Given the description of an element on the screen output the (x, y) to click on. 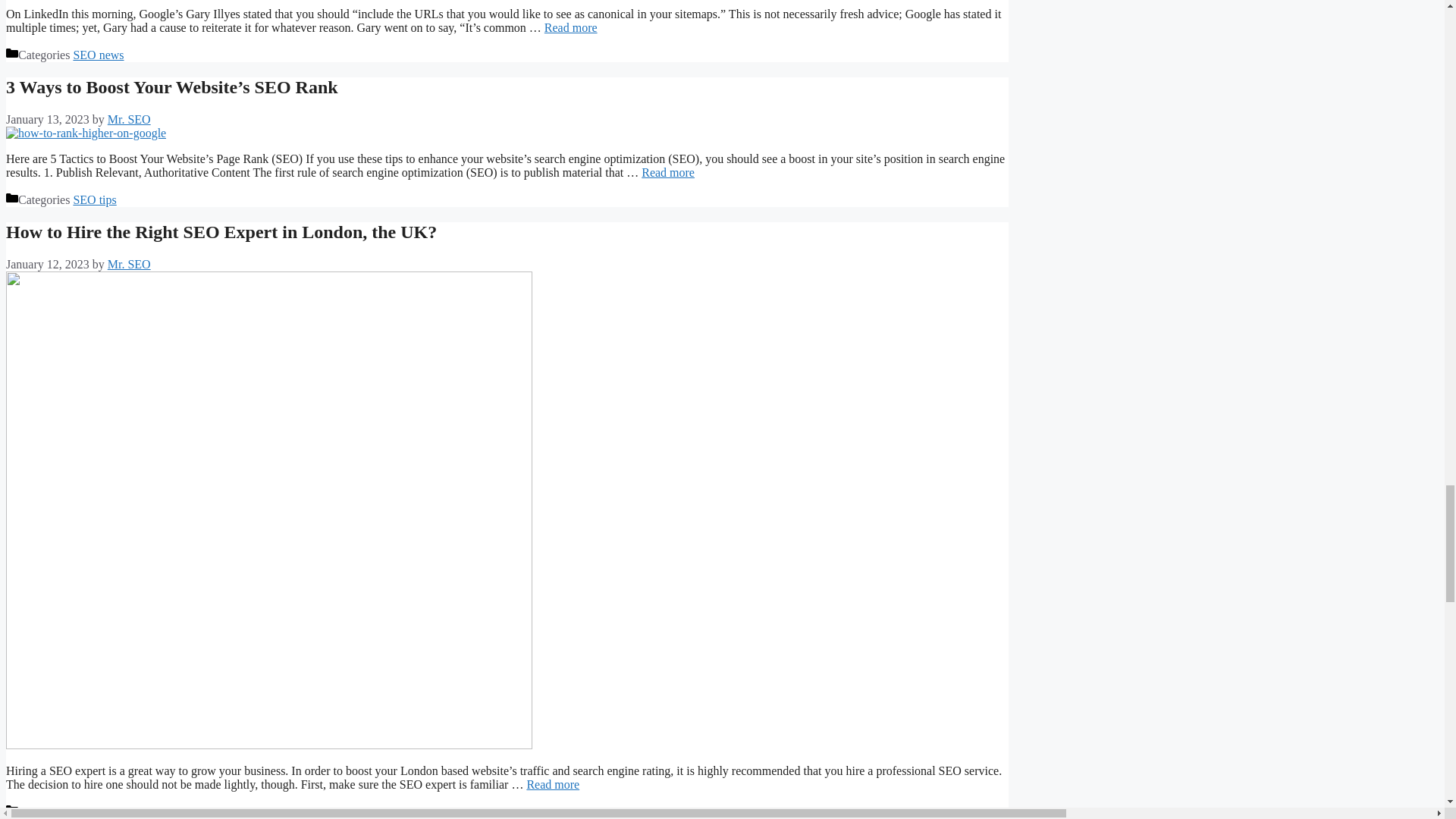
How to Hire the Right SEO Expert in London, the UK? (220, 231)
View all posts by Mr. SEO (129, 119)
How to Hire the Right SEO Expert in London, the UK? (552, 784)
SEO tips (94, 199)
Mr. SEO (129, 264)
SEO news (97, 54)
View all posts by Mr. SEO (129, 264)
Read more (668, 172)
Google requests to include your canonical URLs in sitemap (570, 27)
Mr. SEO (129, 119)
Read more (570, 27)
